Given the description of an element on the screen output the (x, y) to click on. 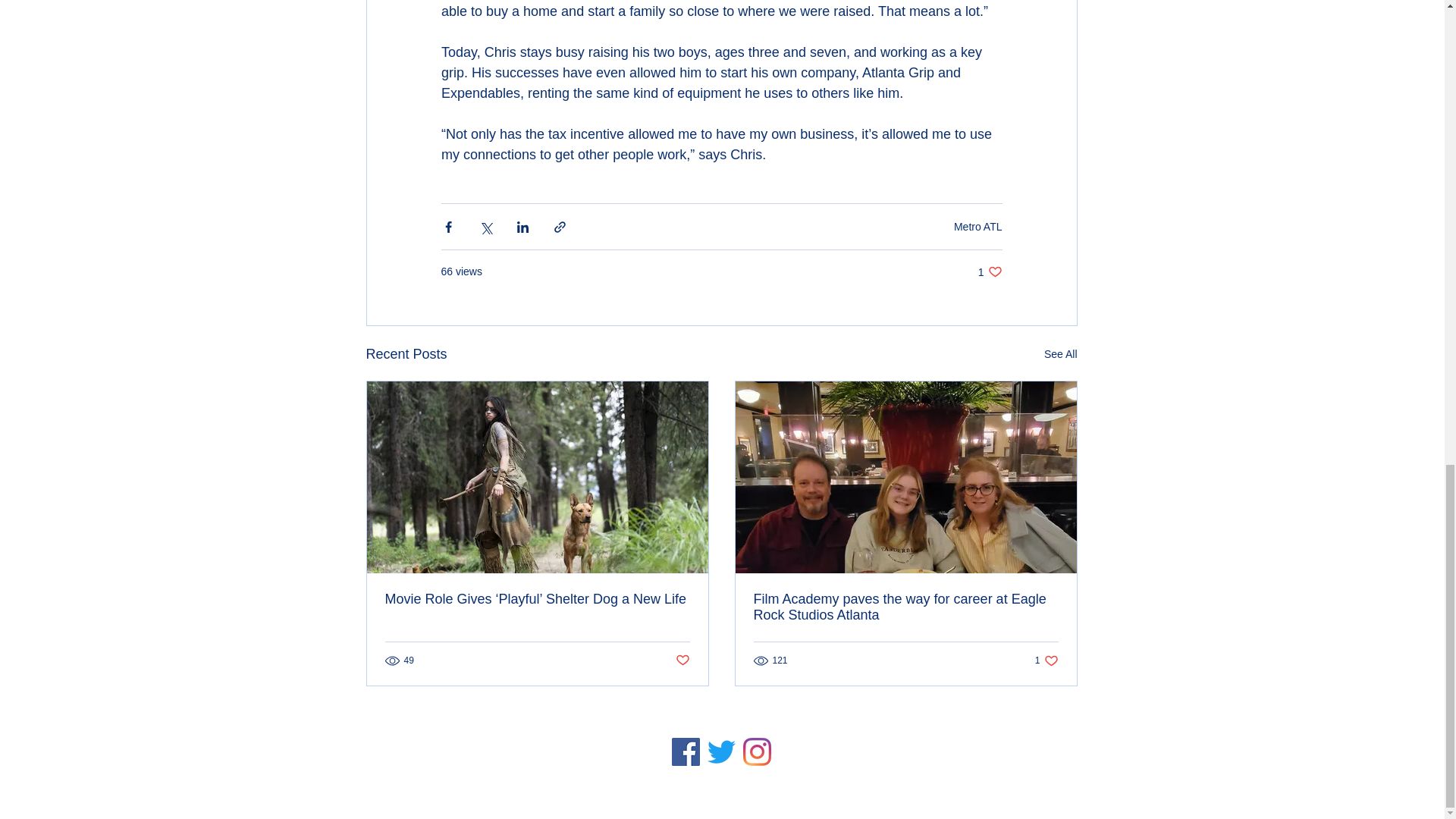
See All (990, 271)
Post not marked as liked (1060, 354)
Metro ATL (681, 660)
